Given the description of an element on the screen output the (x, y) to click on. 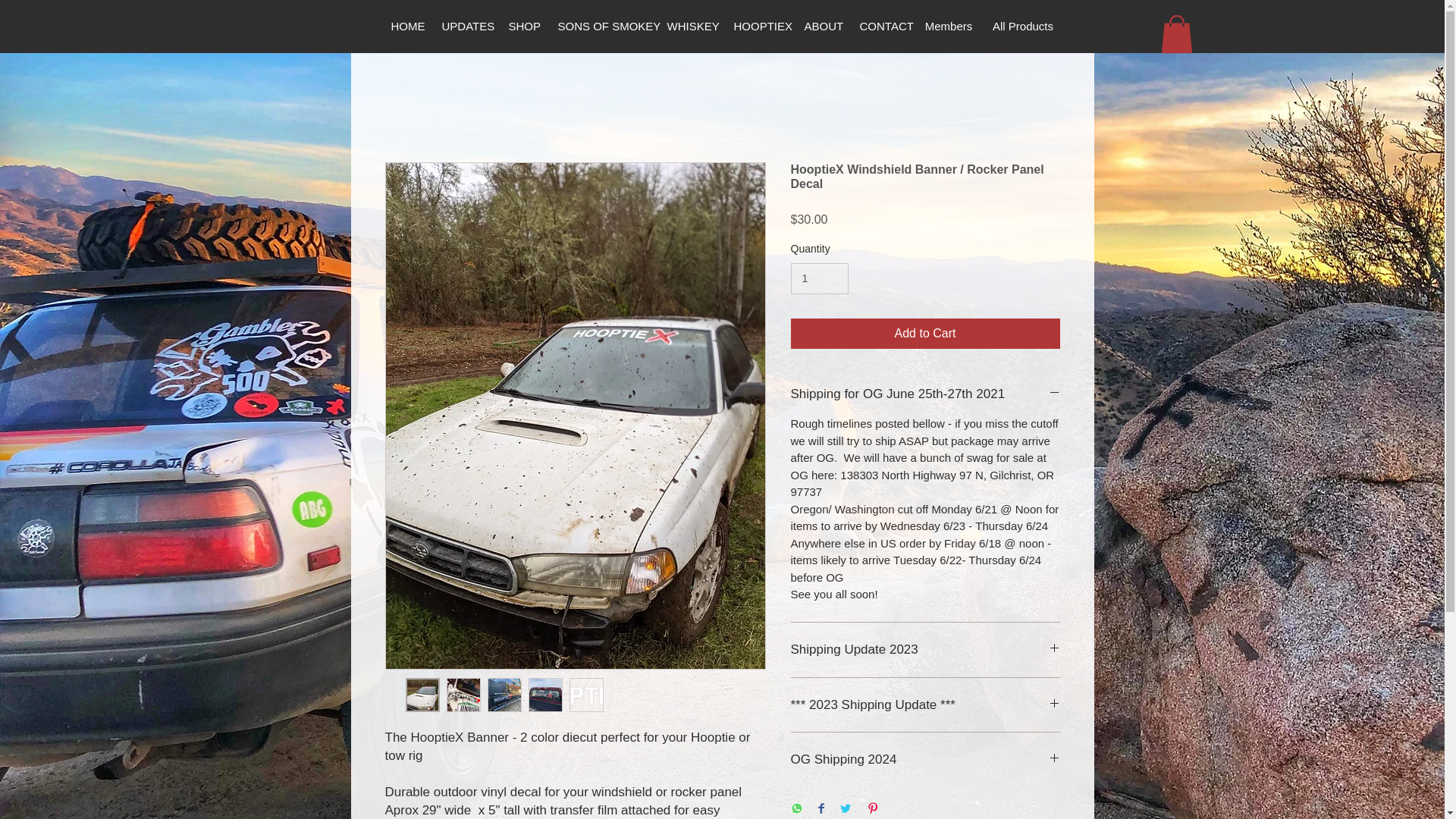
CONTACT (881, 26)
Add to Cart (924, 333)
HOOPTIEX (758, 26)
Shipping for OG June 25th-27th 2021 (924, 393)
HOME (405, 26)
1 (818, 278)
SHOP (523, 26)
Shipping Update 2023 (924, 649)
OG Shipping 2024 (924, 760)
UPDATES (465, 26)
